Given the description of an element on the screen output the (x, y) to click on. 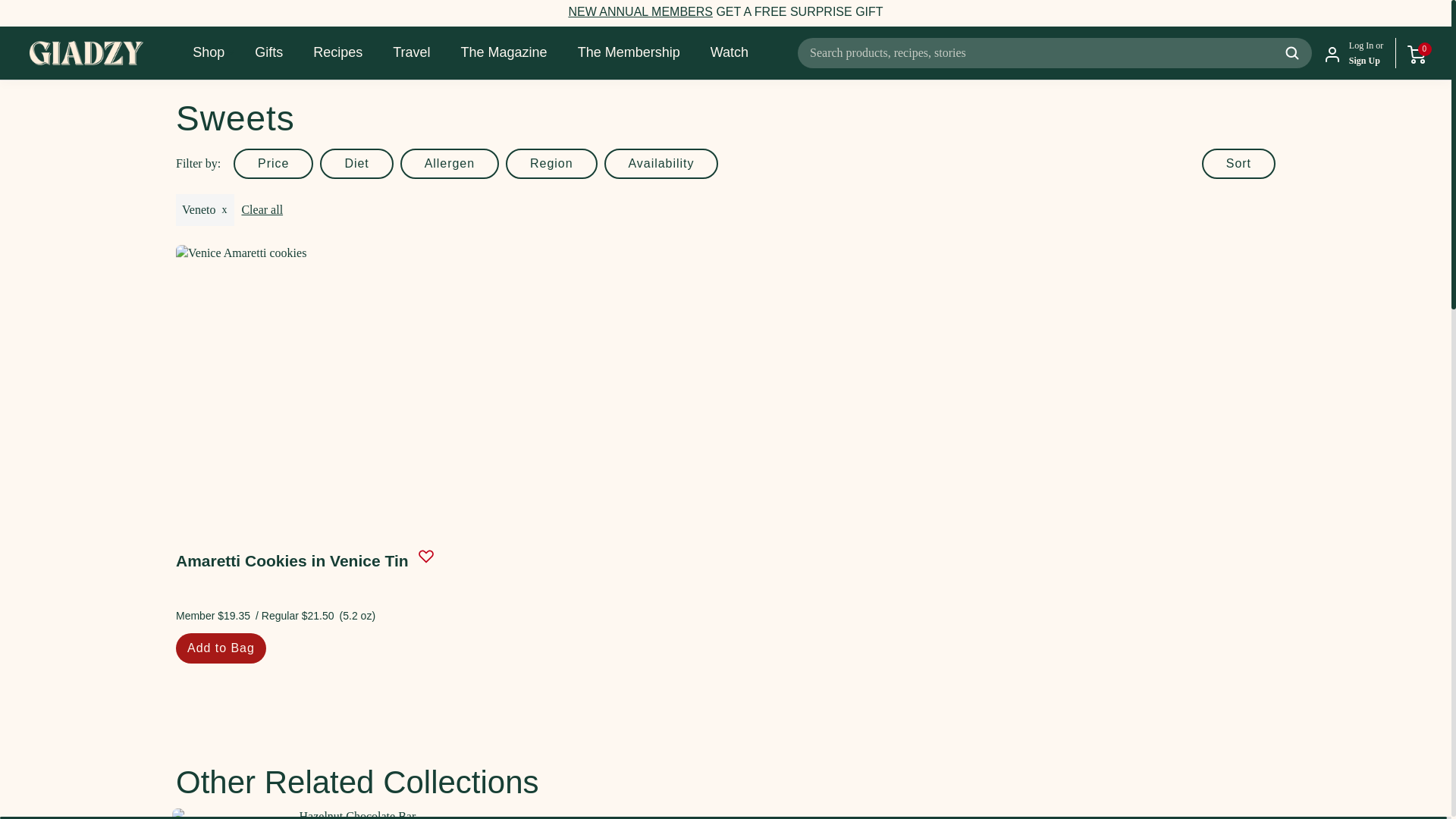
The Membership (640, 11)
NEW ANNUAL MEMBERS (640, 11)
Amaretti Cookies in Venice Tin (304, 378)
